Given the description of an element on the screen output the (x, y) to click on. 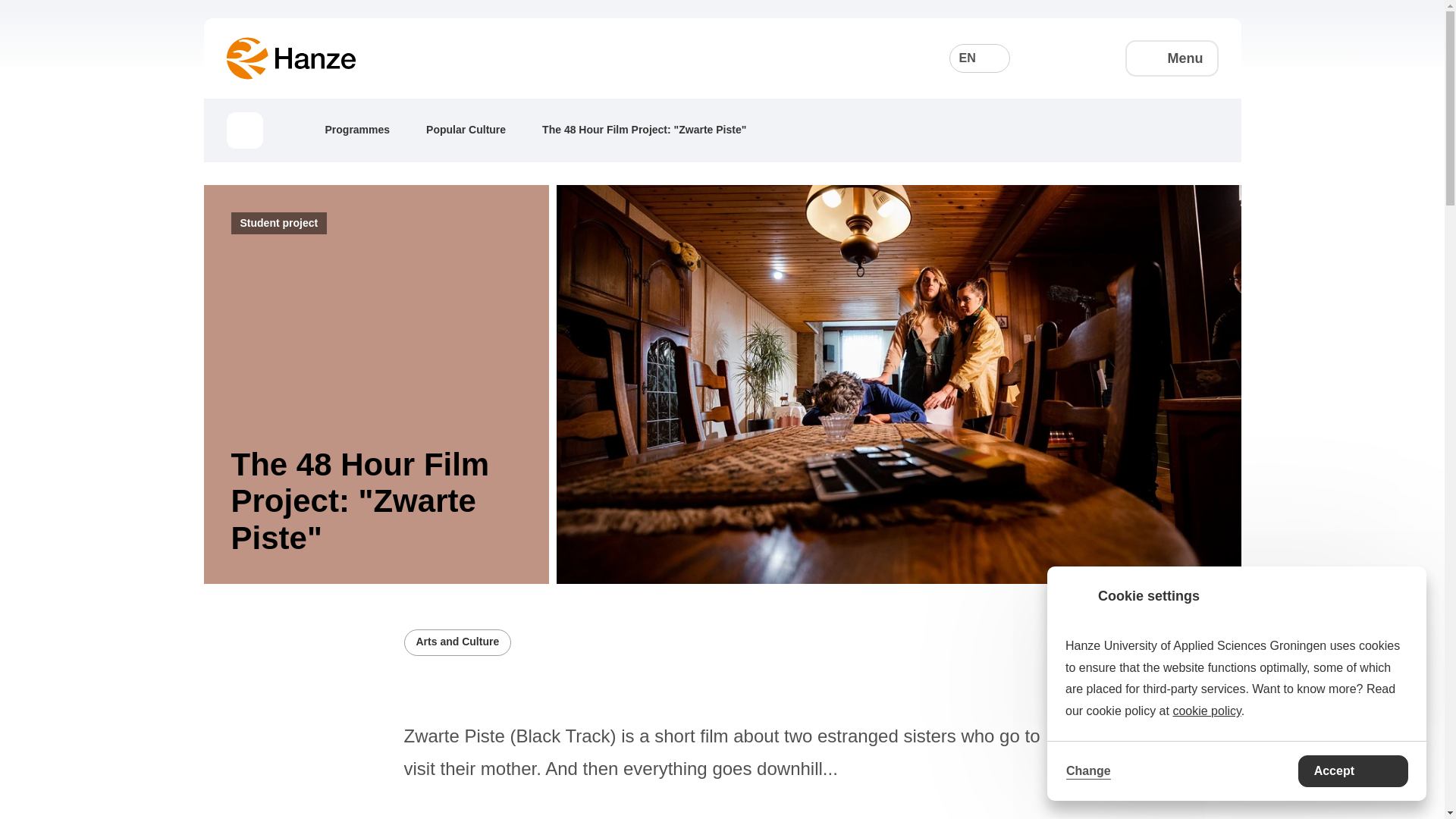
Popular Culture (477, 129)
EN (979, 58)
My Hanze (1089, 57)
Programmes (368, 129)
Menu (1171, 58)
